Given the description of an element on the screen output the (x, y) to click on. 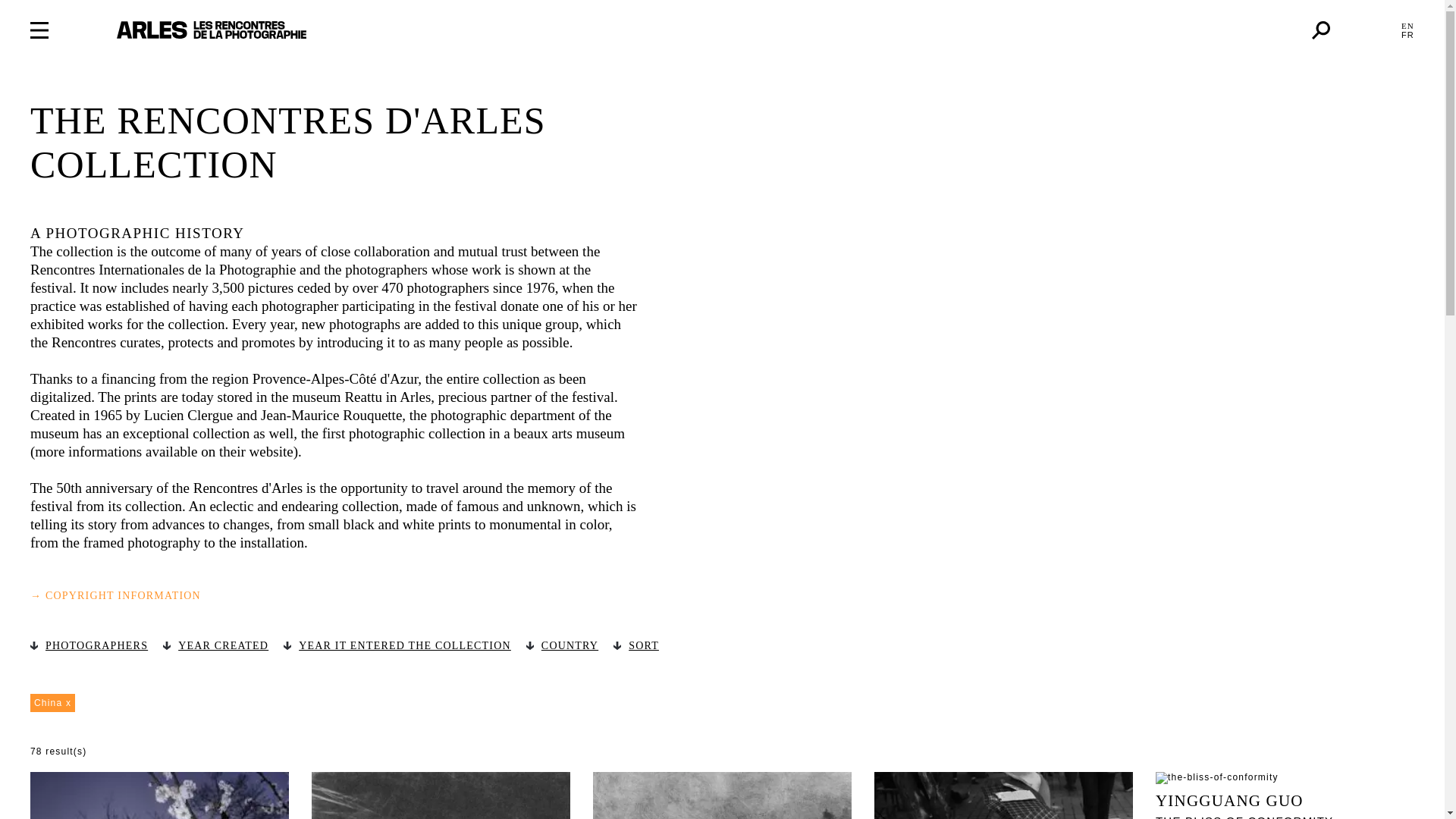
Espace membre (1365, 30)
Les Rencontres d'Arles (210, 30)
Ticketing (1275, 30)
EN (1406, 25)
FR (1406, 34)
